Given the description of an element on the screen output the (x, y) to click on. 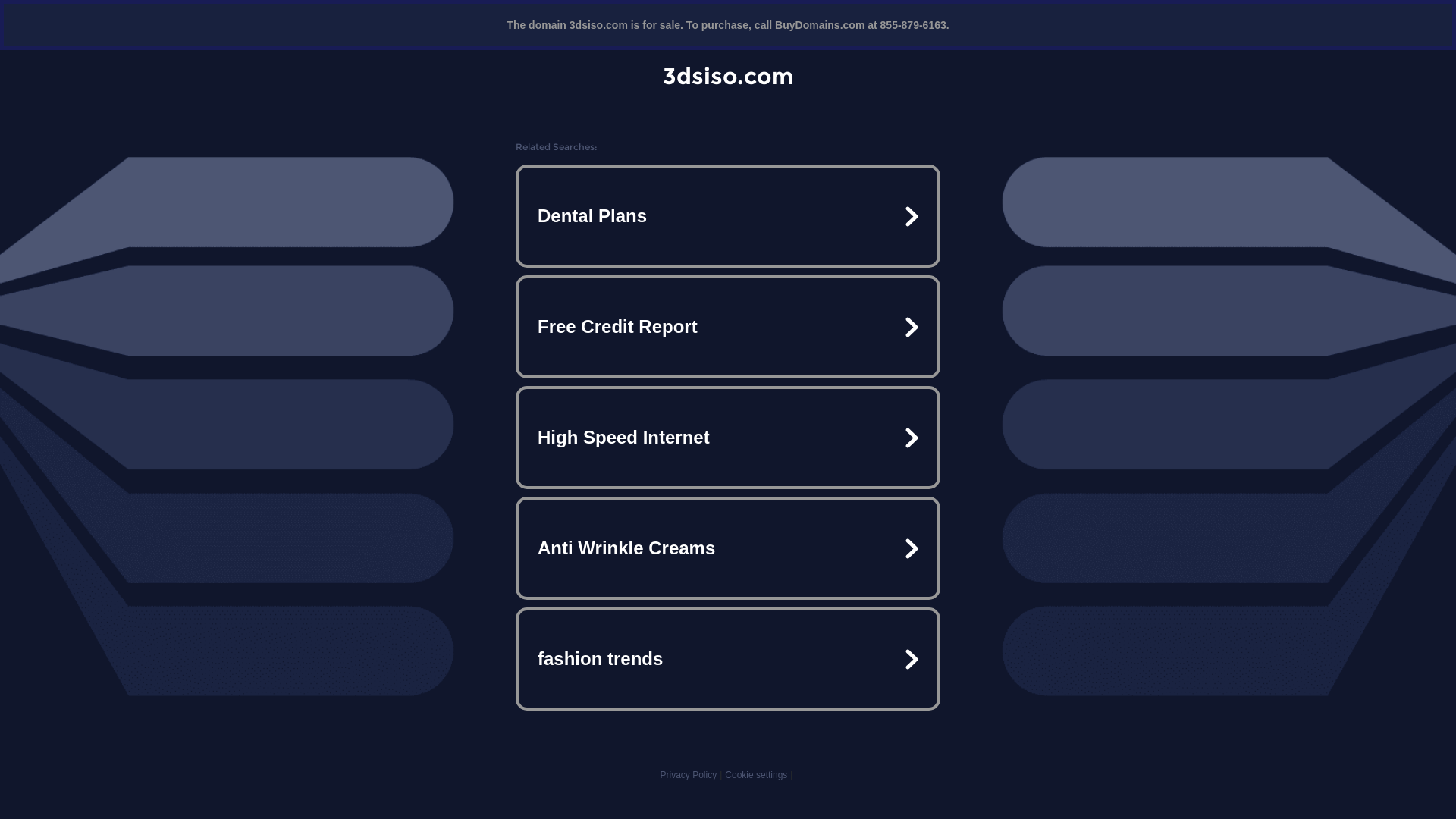
Anti Wrinkle Creams Element type: text (727, 547)
Dental Plans Element type: text (727, 215)
fashion trends Element type: text (727, 658)
Cookie settings Element type: text (755, 774)
High Speed Internet Element type: text (727, 437)
Privacy Policy Element type: text (687, 774)
3dsiso.com Element type: text (727, 76)
Free Credit Report Element type: text (727, 326)
